Given the description of an element on the screen output the (x, y) to click on. 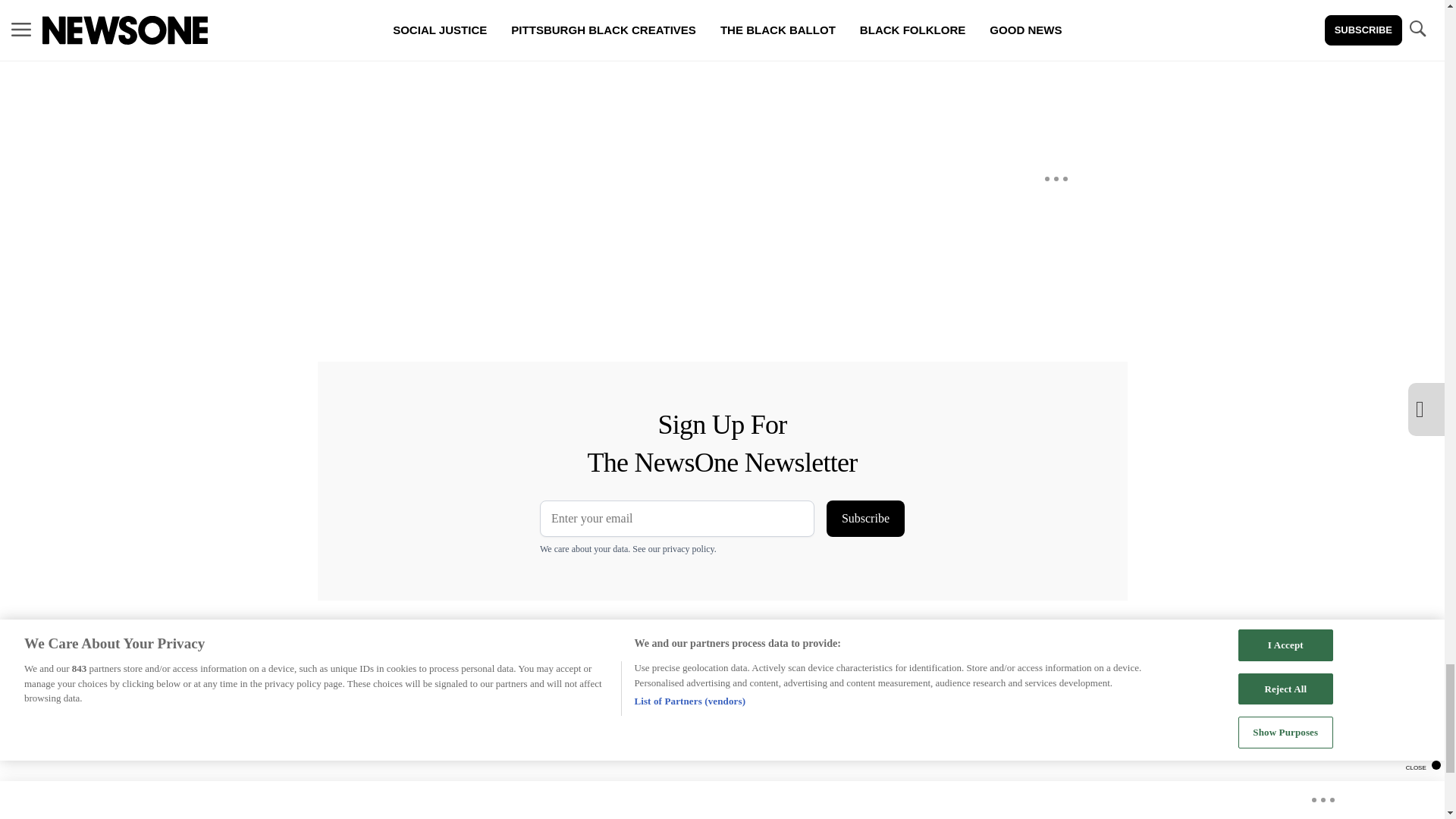
Vuukle Comments Widget (585, 55)
